Given the description of an element on the screen output the (x, y) to click on. 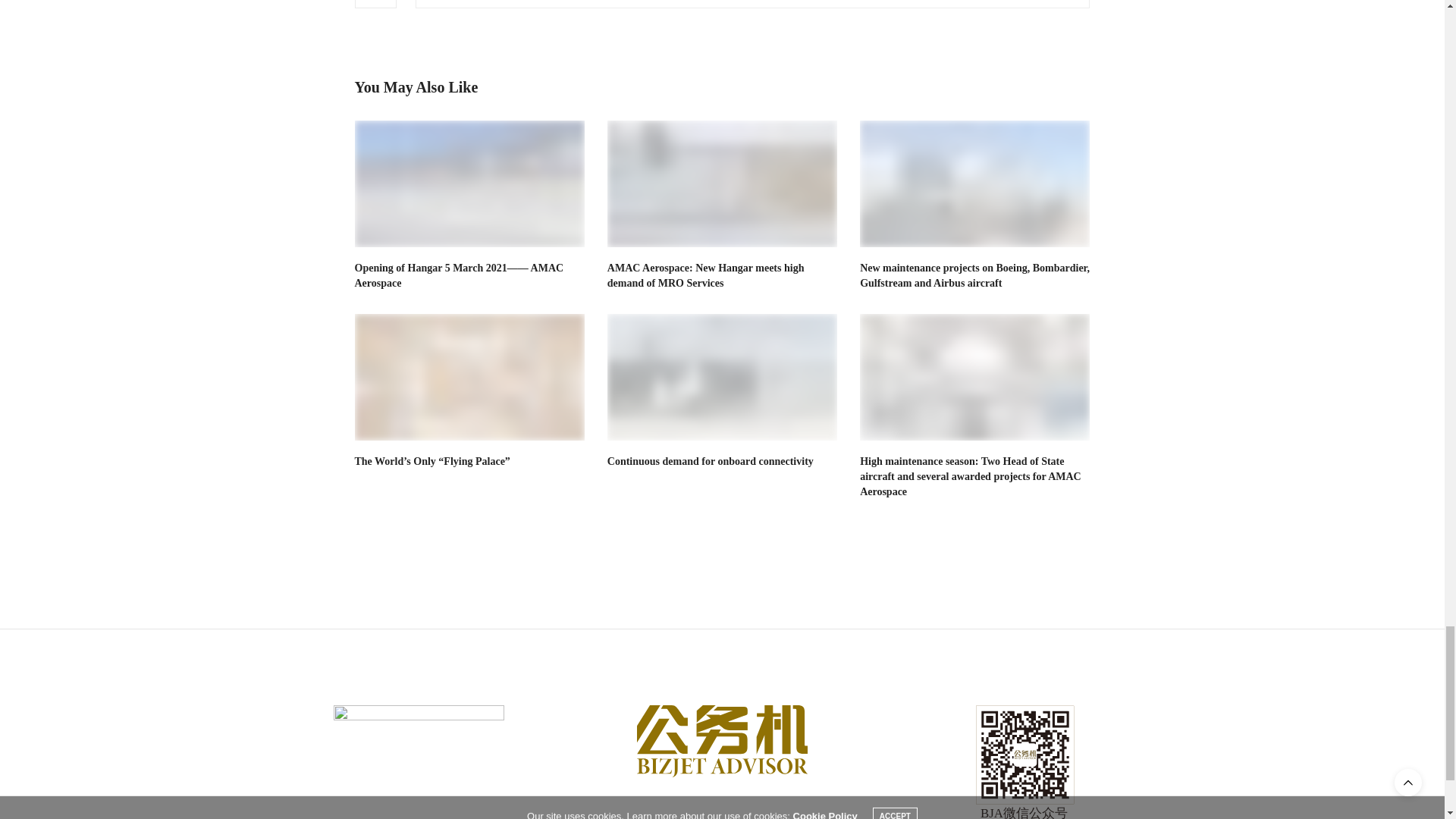
AMAC Aerospace: New Hangar meets high demand of MRO Services (706, 275)
Continuous demand for onboard connectivity (722, 376)
Continuous demand for onboard connectivity (710, 460)
AMAC Aerospace: New Hangar meets high demand of MRO Services (722, 183)
